Given the description of an element on the screen output the (x, y) to click on. 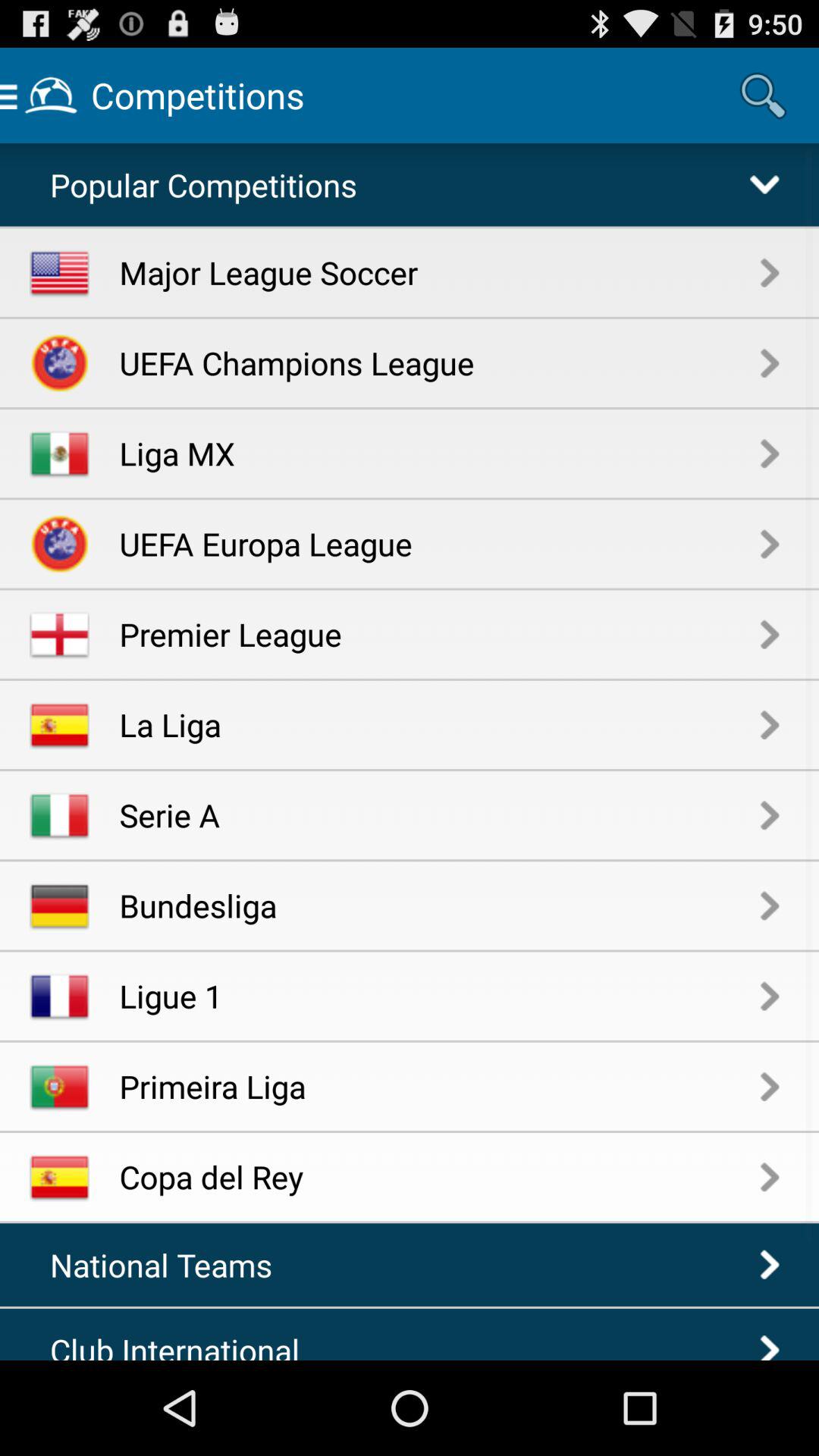
tap national teams (169, 1264)
